Given the description of an element on the screen output the (x, y) to click on. 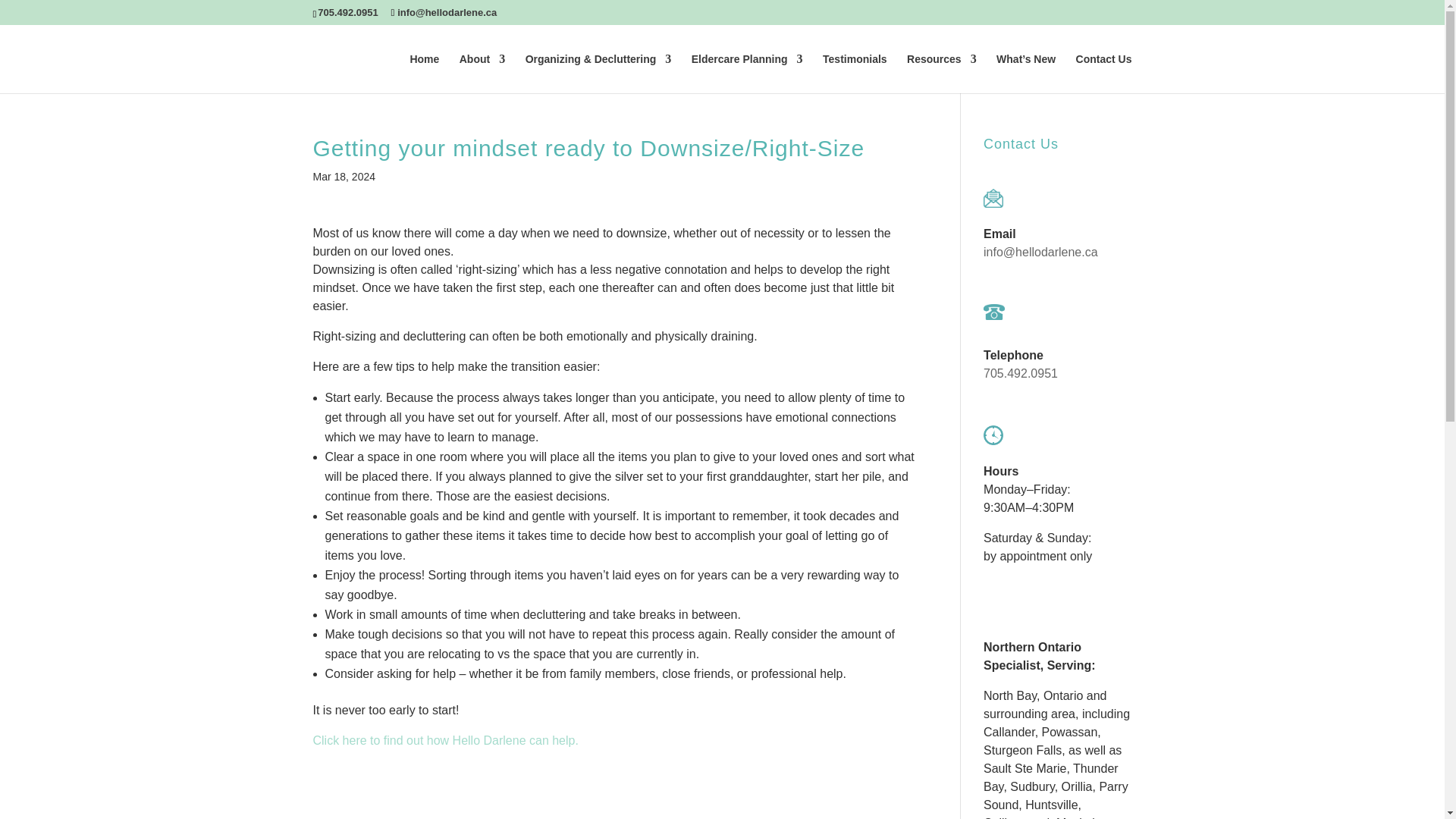
Eldercare Planning (747, 72)
Contact Us (1103, 72)
About (482, 72)
Testimonials (854, 72)
Resources (941, 72)
